Given the description of an element on the screen output the (x, y) to click on. 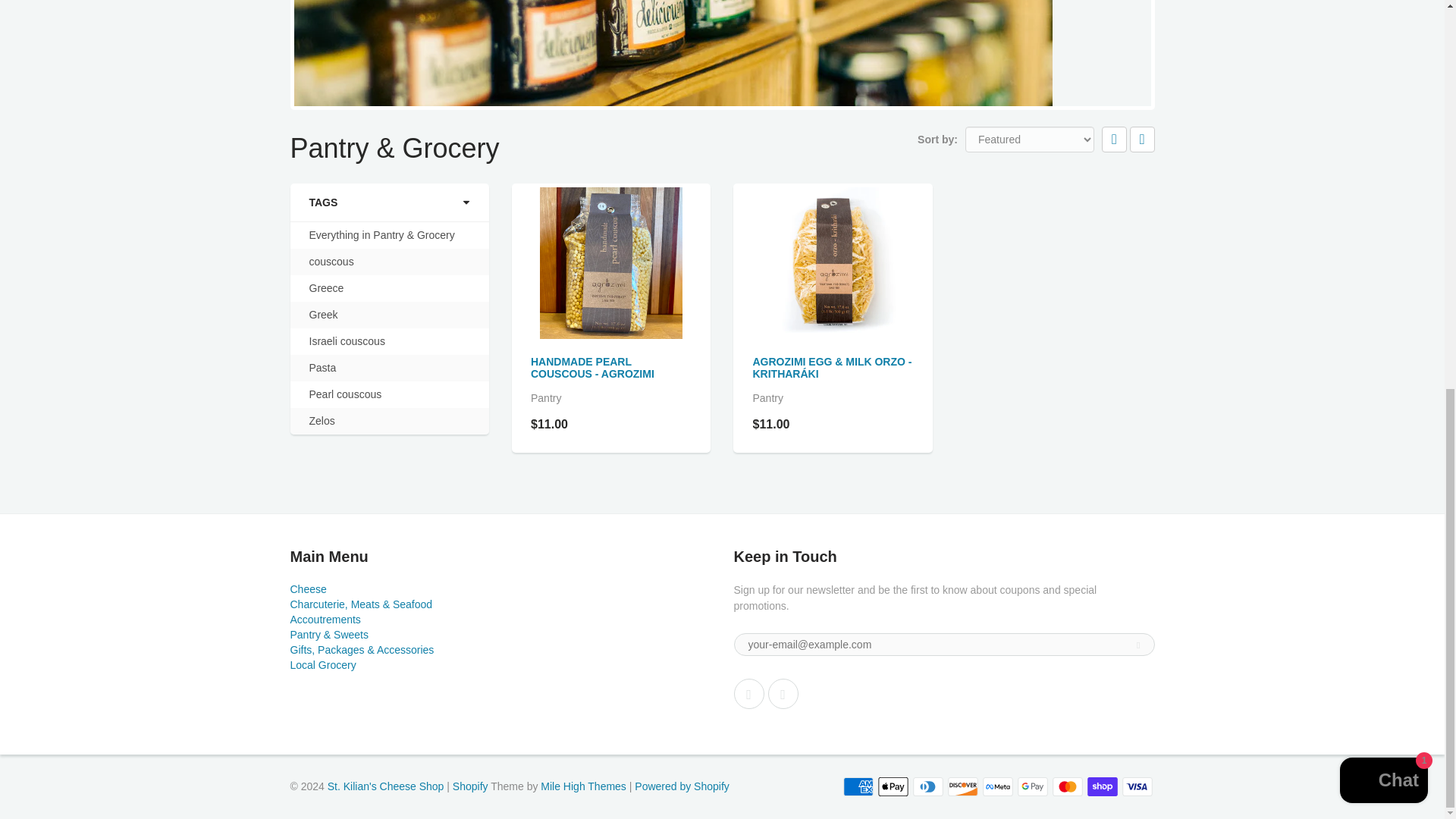
Show products matching tag Zelos (321, 421)
Instagram (782, 693)
Remove tag couscous (330, 261)
List View (1141, 139)
Show products matching tag Greece (325, 288)
Show products matching tag Pearl couscous (344, 394)
Grid view (1114, 139)
Show products matching tag Greek (322, 314)
Shopify online store chat (1383, 42)
Facebook (748, 693)
Show products matching tag Pasta (322, 367)
Show products matching tag Israeli couscous (346, 341)
